Given the description of an element on the screen output the (x, y) to click on. 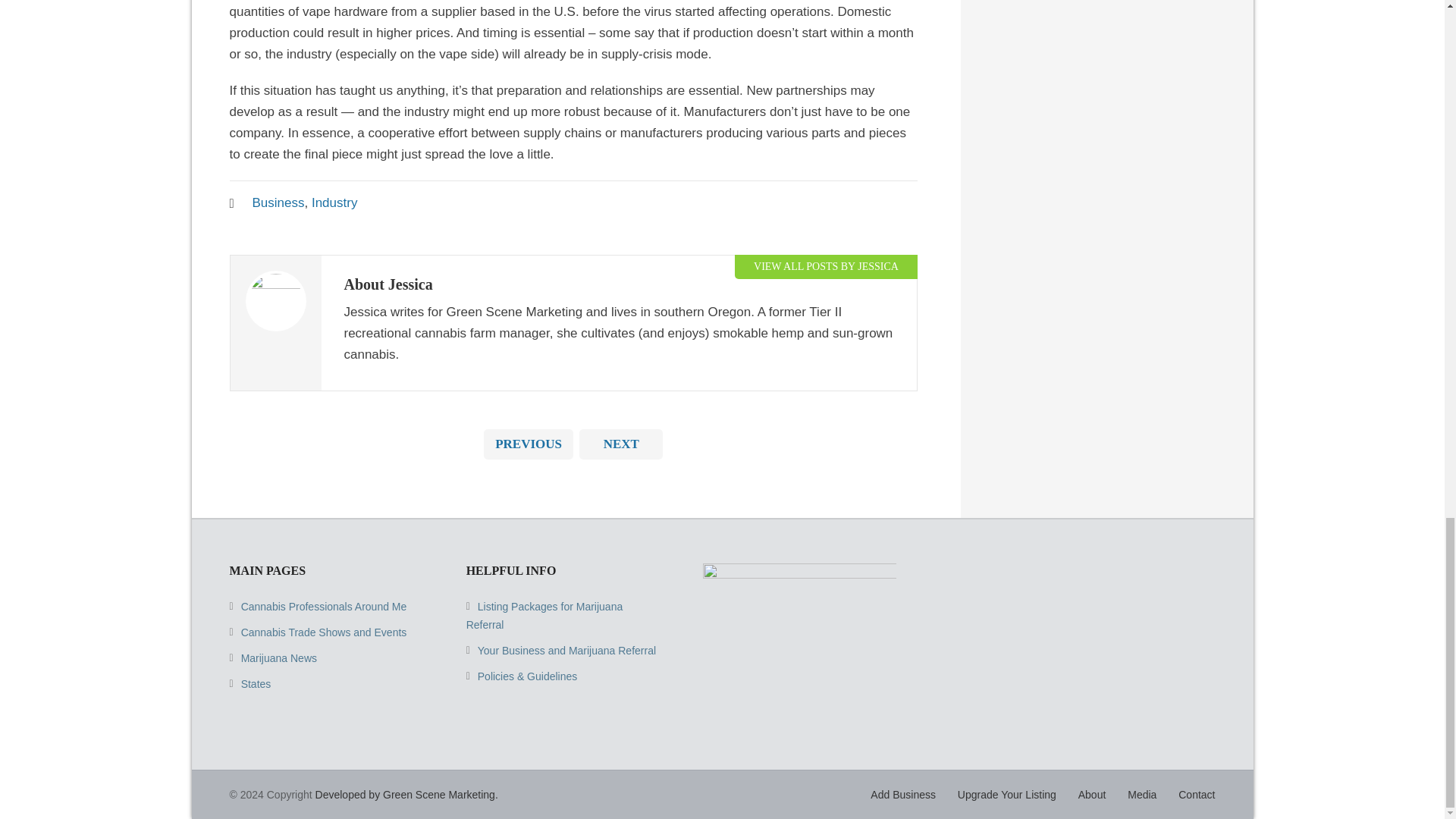
Business (277, 202)
Industry (333, 202)
Cannabis Professionals Around Me (324, 606)
PREVIOUS (528, 444)
VIEW ALL POSTS BY JESSICA (826, 266)
Marijuana News (279, 657)
NEXT (620, 444)
States (255, 684)
Cannabis Trade Shows and Events (324, 632)
